Given the description of an element on the screen output the (x, y) to click on. 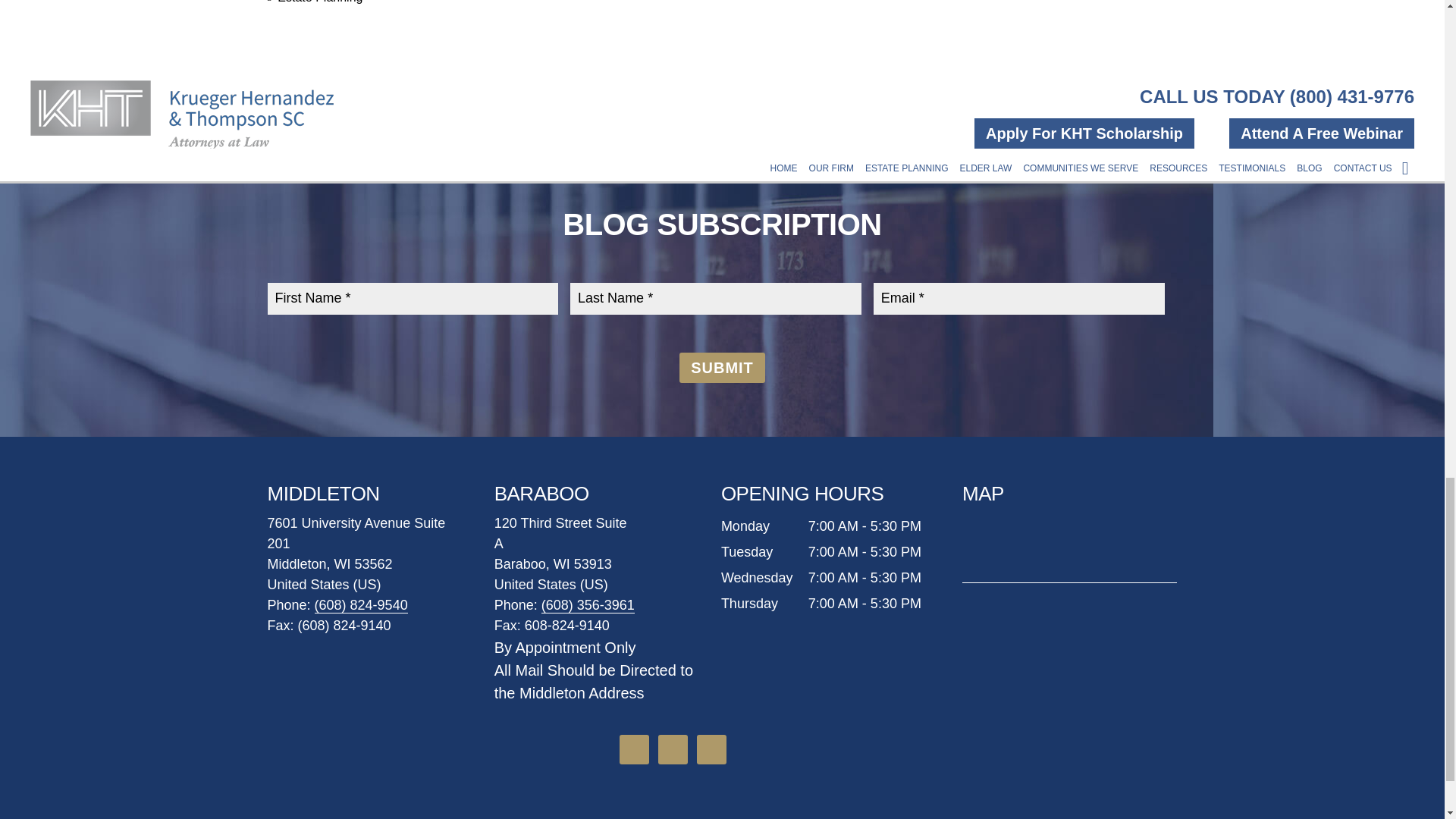
Submit (722, 367)
